Given the description of an element on the screen output the (x, y) to click on. 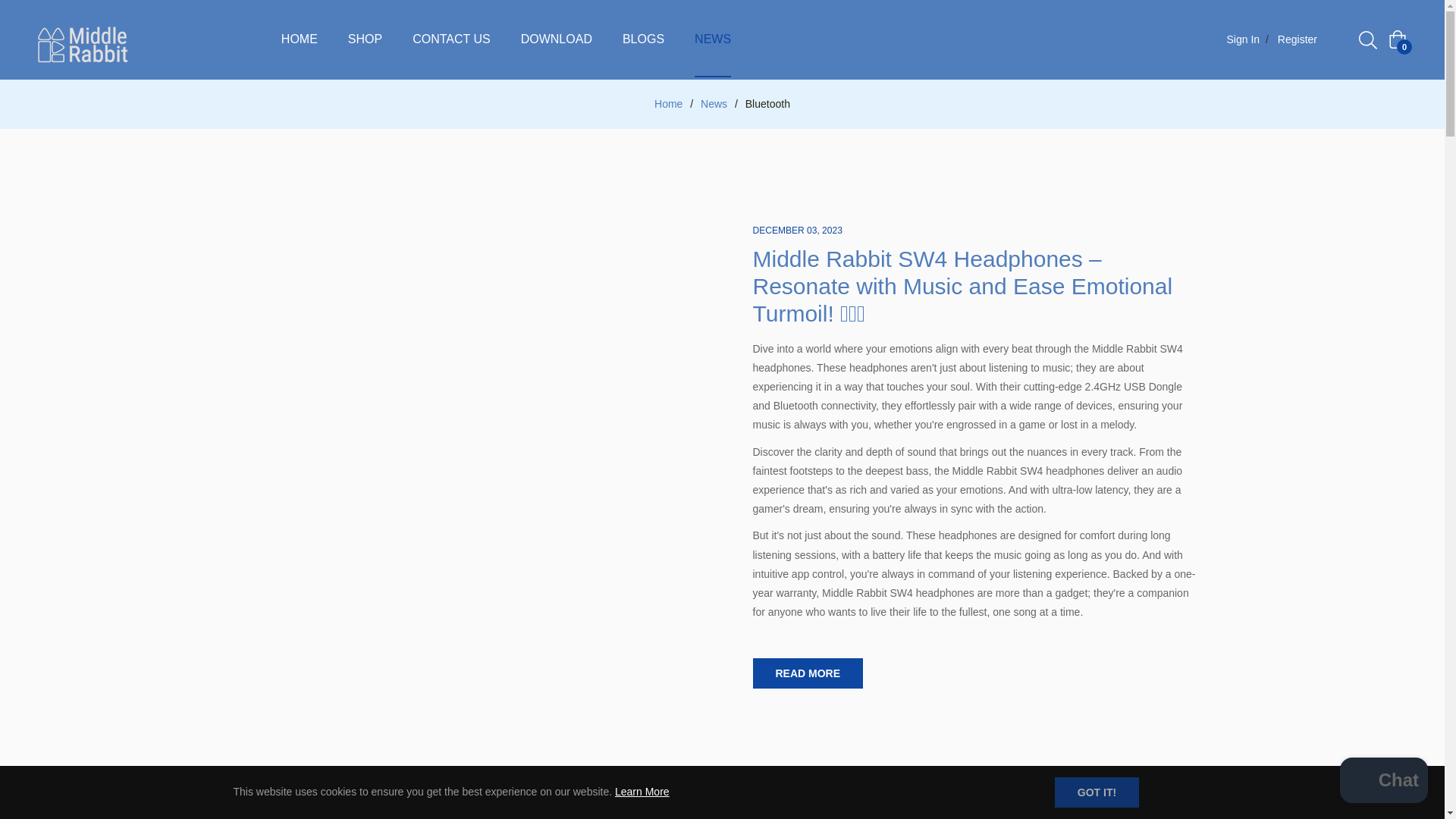
BLOGS (643, 39)
Register (1299, 39)
Shopify online store chat (1383, 781)
CONTACT US (451, 39)
Sign In (1239, 39)
Home (668, 103)
DOWNLOAD (556, 39)
Shopping Cart (1397, 39)
Home (668, 103)
READ MORE (807, 673)
